Given the description of an element on the screen output the (x, y) to click on. 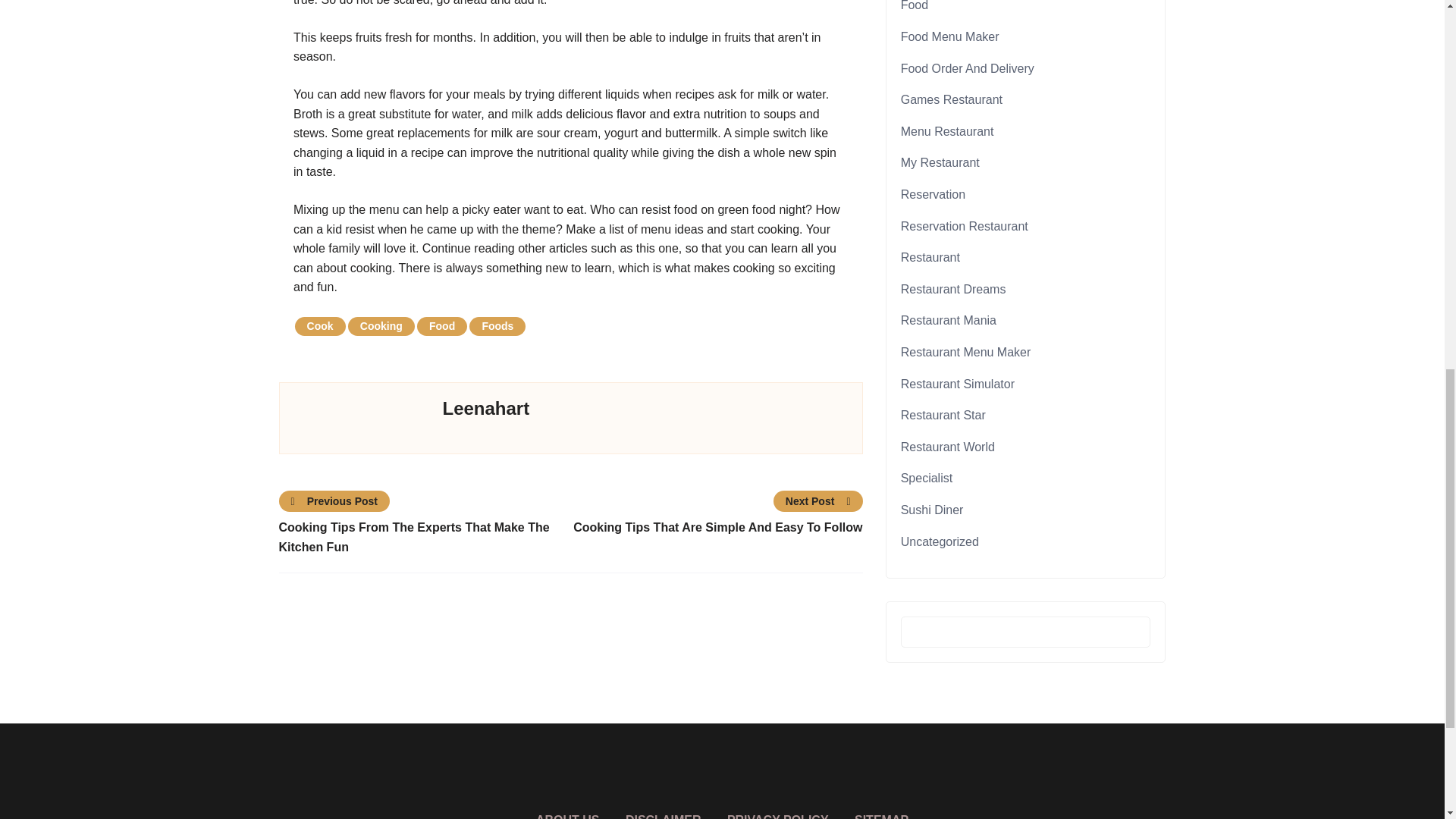
Previous Post (334, 501)
Foods (496, 326)
Next Post (818, 501)
Cook (320, 326)
Food (914, 5)
Cooking Tips From The Experts That Make The Kitchen Fun (424, 536)
Food Menu Maker (949, 36)
Food (441, 326)
Cooking Tips That Are Simple And Easy To Follow (715, 527)
Cooking (380, 326)
Food Order And Delivery (967, 68)
